Given the description of an element on the screen output the (x, y) to click on. 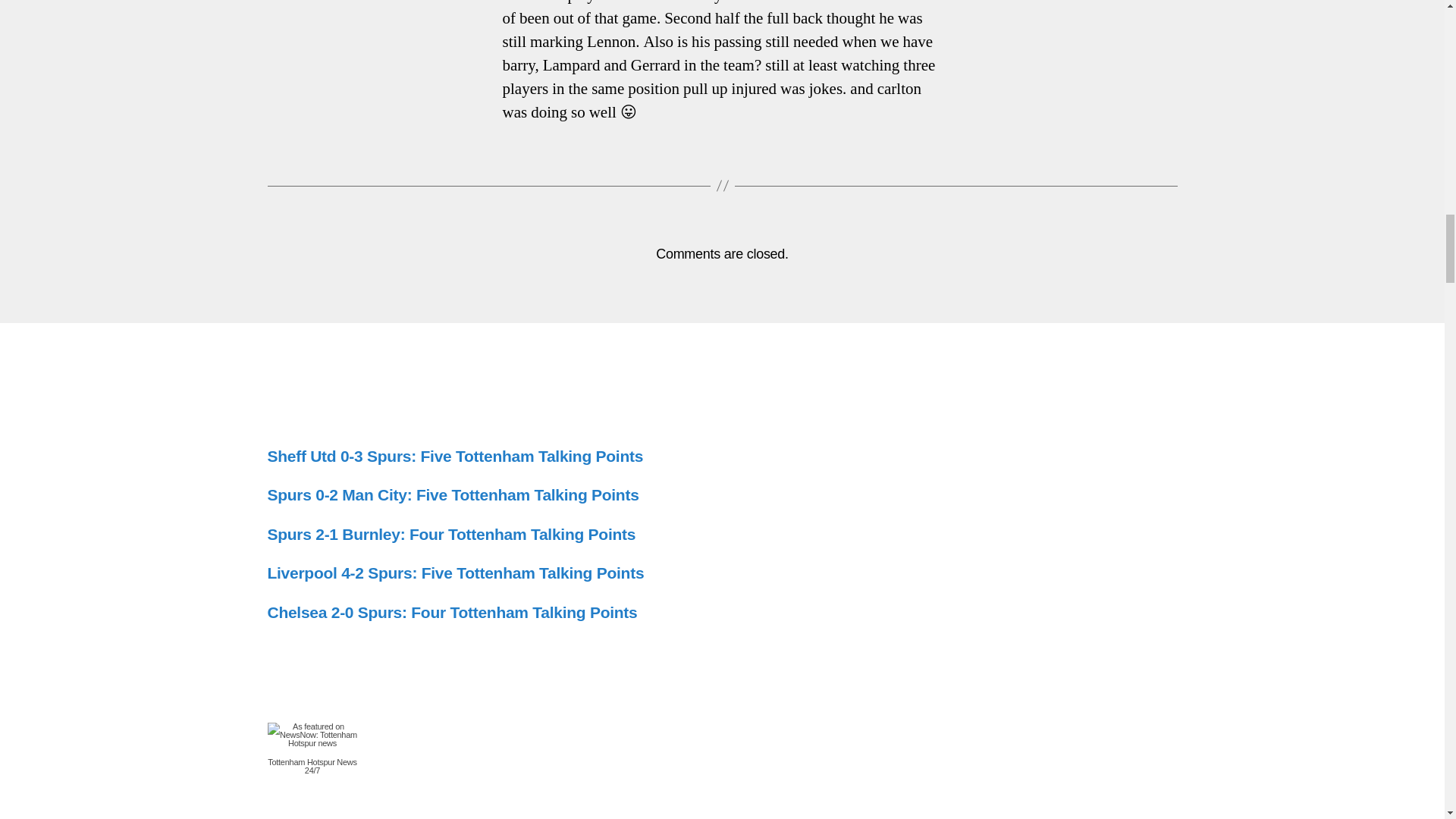
Liverpool 4-2 Spurs: Five Tottenham Talking Points (454, 572)
Sheff Utd 0-3 Spurs: Five Tottenham Talking Points (454, 456)
Spurs 0-2 Man City: Five Tottenham Talking Points (452, 494)
Spurs 2-1 Burnley: Four Tottenham Talking Points (450, 533)
Click here for more Tottenham Hotspur news from NewsNow (311, 748)
Chelsea 2-0 Spurs: Four Tottenham Talking Points (451, 611)
